Given the description of an element on the screen output the (x, y) to click on. 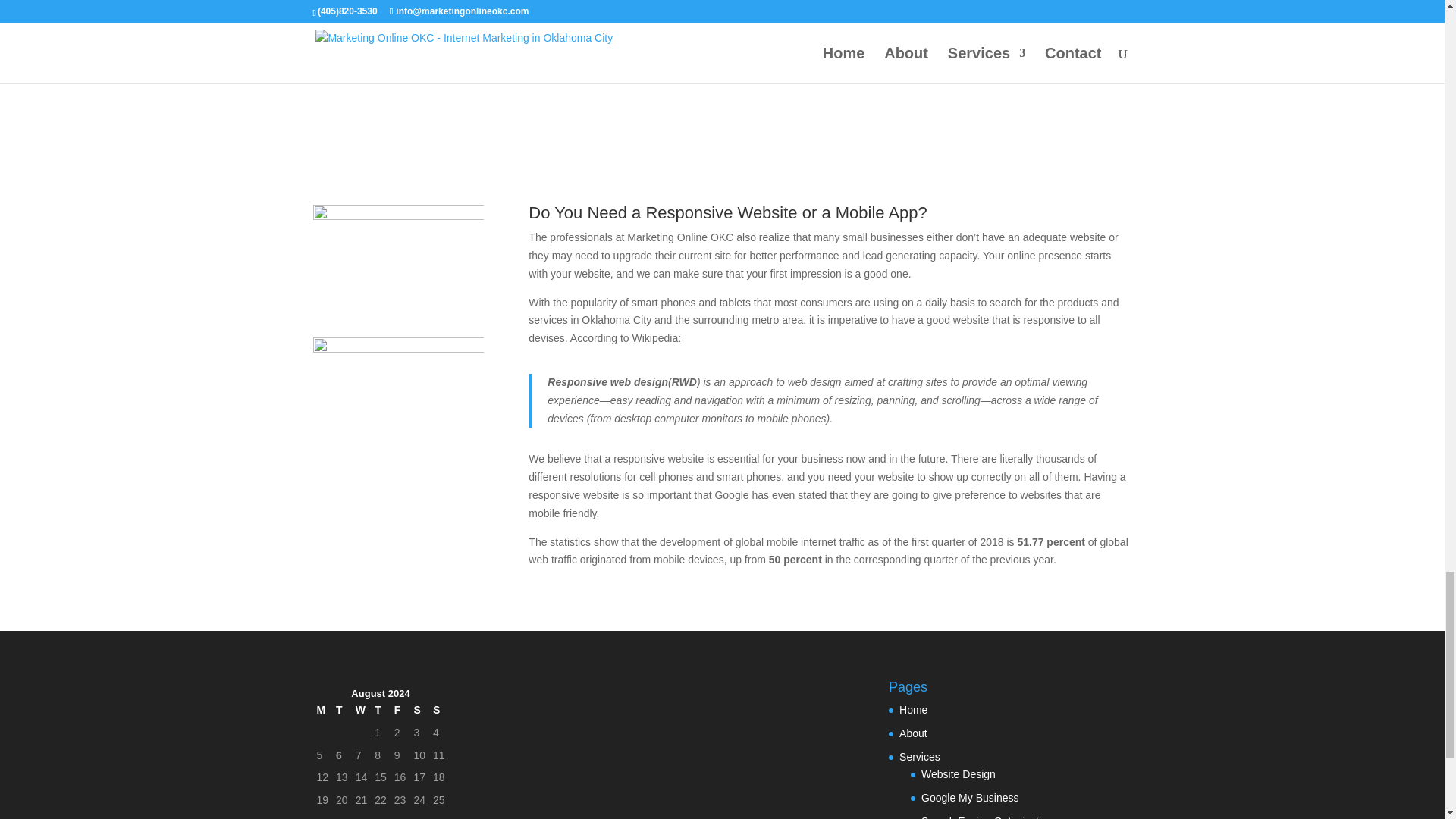
Home (913, 709)
About (913, 733)
Services (919, 756)
Google My Business (969, 797)
contact form (602, 54)
405.820.3530 (476, 54)
Search Engine Optimization (986, 816)
Website Design (958, 774)
